Given the description of an element on the screen output the (x, y) to click on. 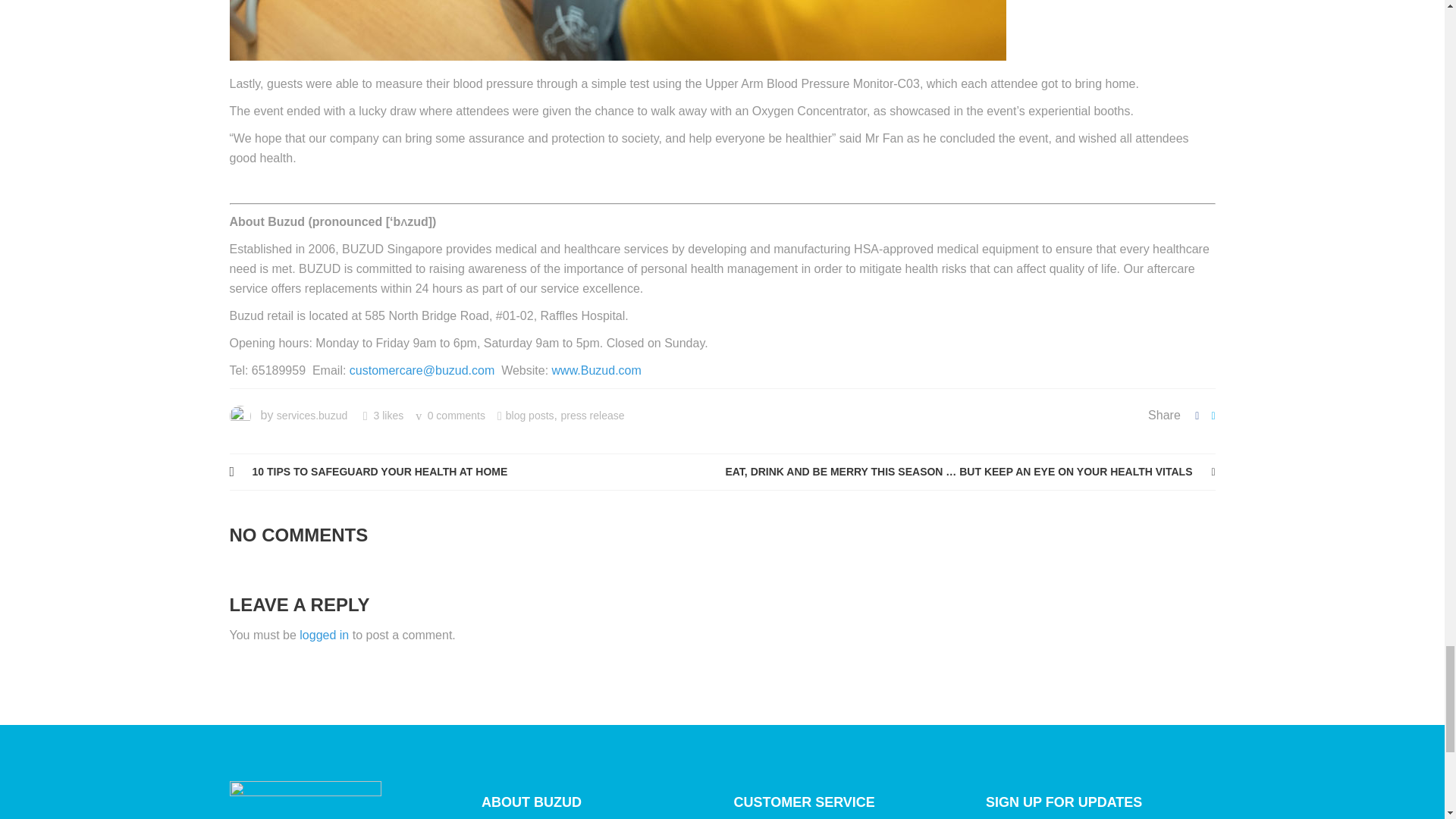
Like this (383, 415)
